Given the description of an element on the screen output the (x, y) to click on. 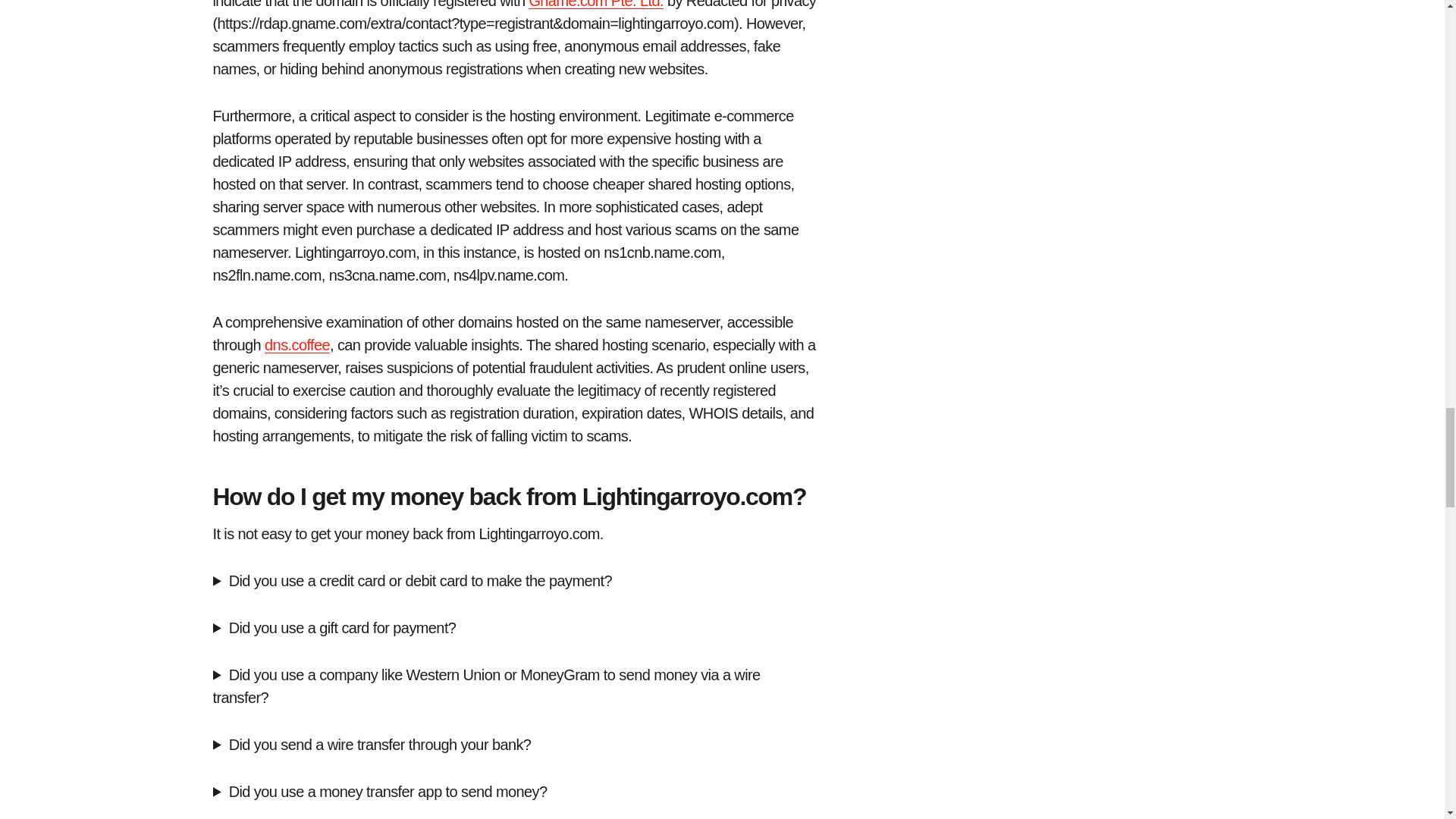
dns.coffee (297, 344)
Gname.com Pte. Ltd. (595, 4)
